Given the description of an element on the screen output the (x, y) to click on. 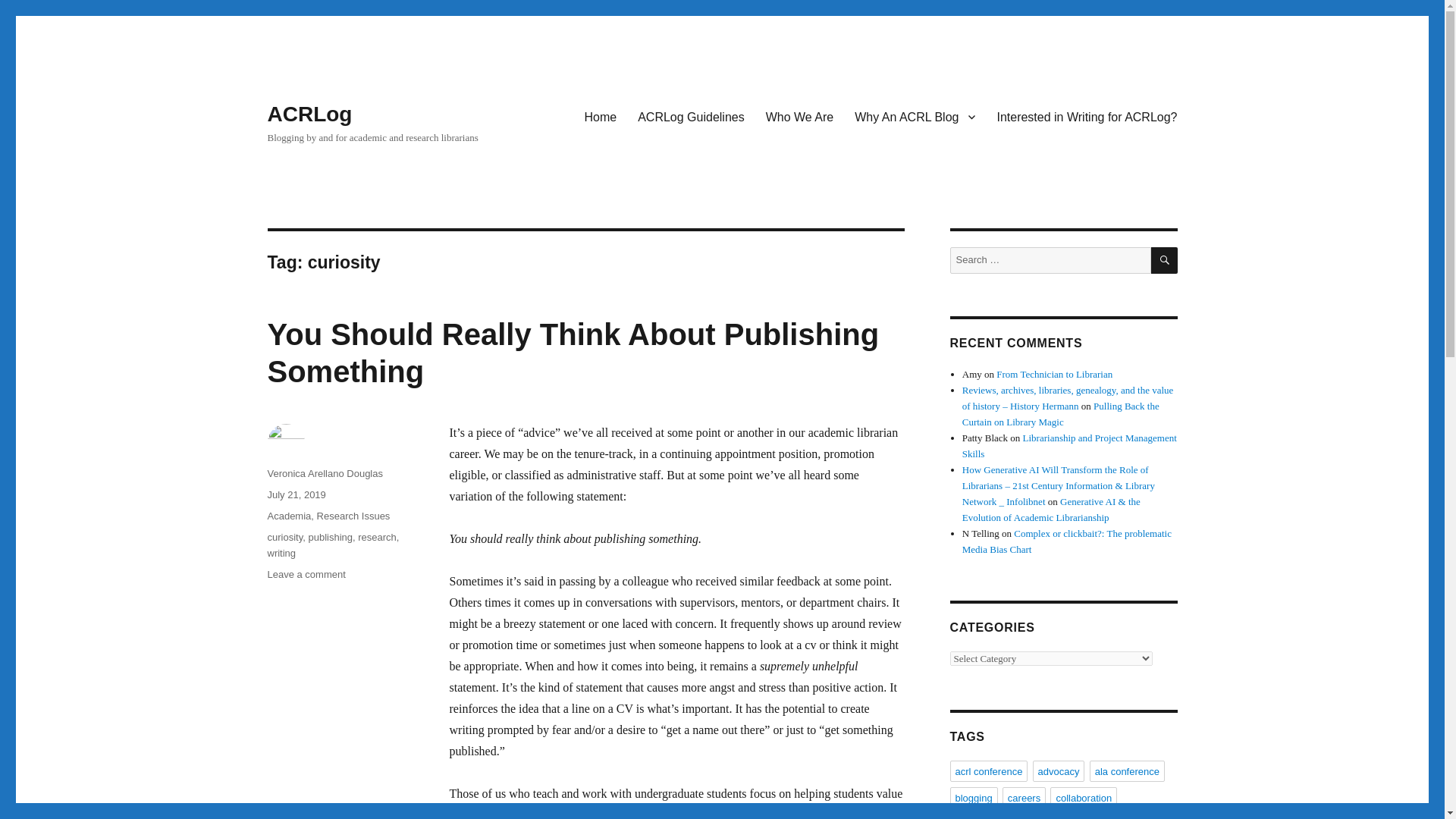
publishing (329, 536)
Home (600, 116)
Why An ACRL Blog (914, 116)
Who We Are (799, 116)
ACRLog Guidelines (691, 116)
Complex or clickbait?: The problematic Media Bias Chart (1067, 541)
collection development (1004, 816)
ala conference (1126, 771)
You Should Really Think About Publishing Something (572, 352)
From Technician to Librarian (1053, 374)
research (377, 536)
Academia (288, 515)
ACRLog (309, 114)
careers (1024, 797)
